Given the description of an element on the screen output the (x, y) to click on. 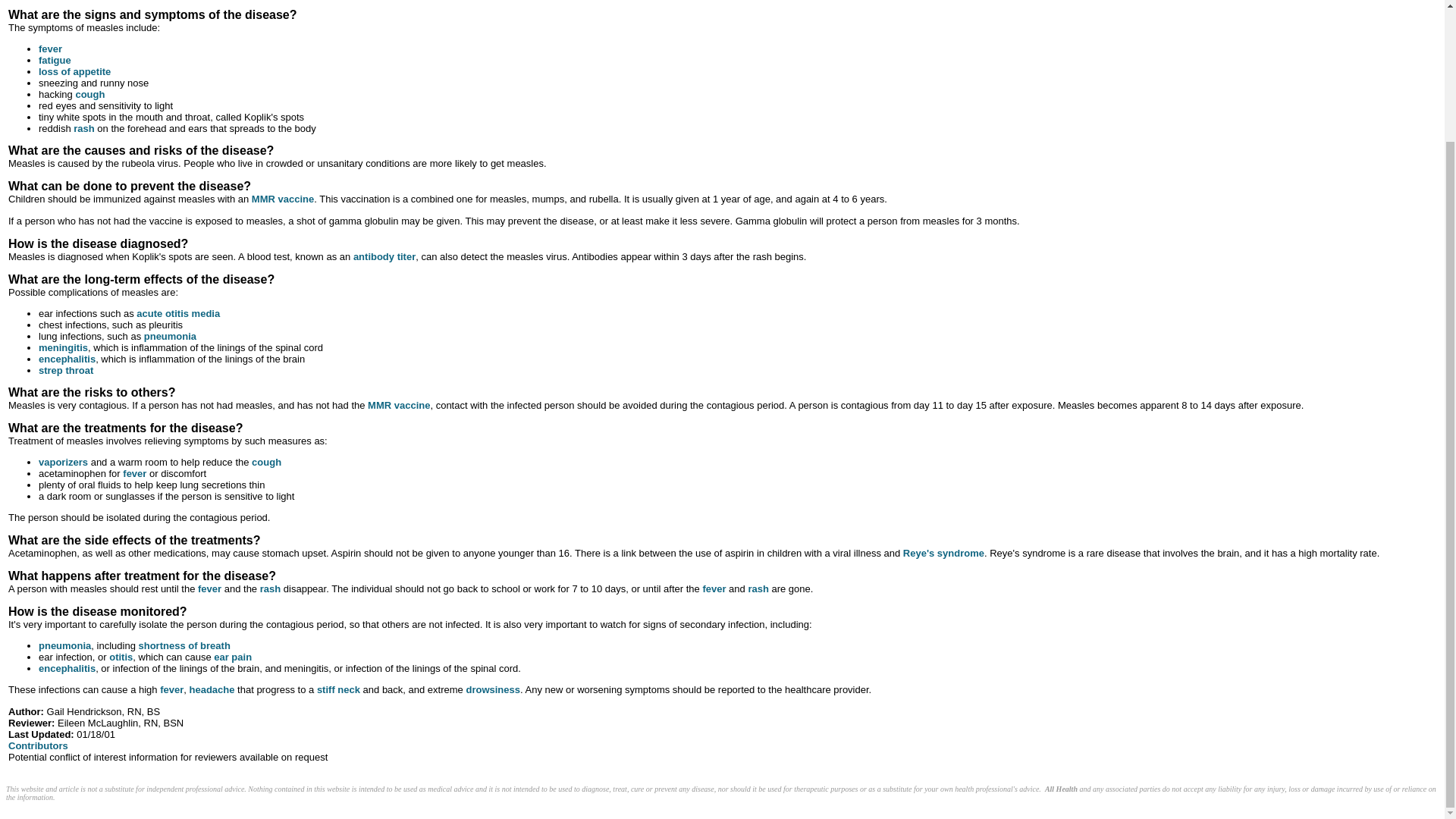
drowsiness (492, 689)
pneumonia (170, 336)
shortness of breath (184, 645)
fever (50, 48)
Rash (758, 588)
headache (211, 689)
antibody titer (383, 256)
ear pain (232, 656)
fever (134, 473)
encephalitis (67, 358)
meningitis in infants and children (63, 347)
antibody titre (383, 256)
encephalitis (67, 668)
MMR vaccine (282, 198)
MMR vaccine (398, 405)
